Given the description of an element on the screen output the (x, y) to click on. 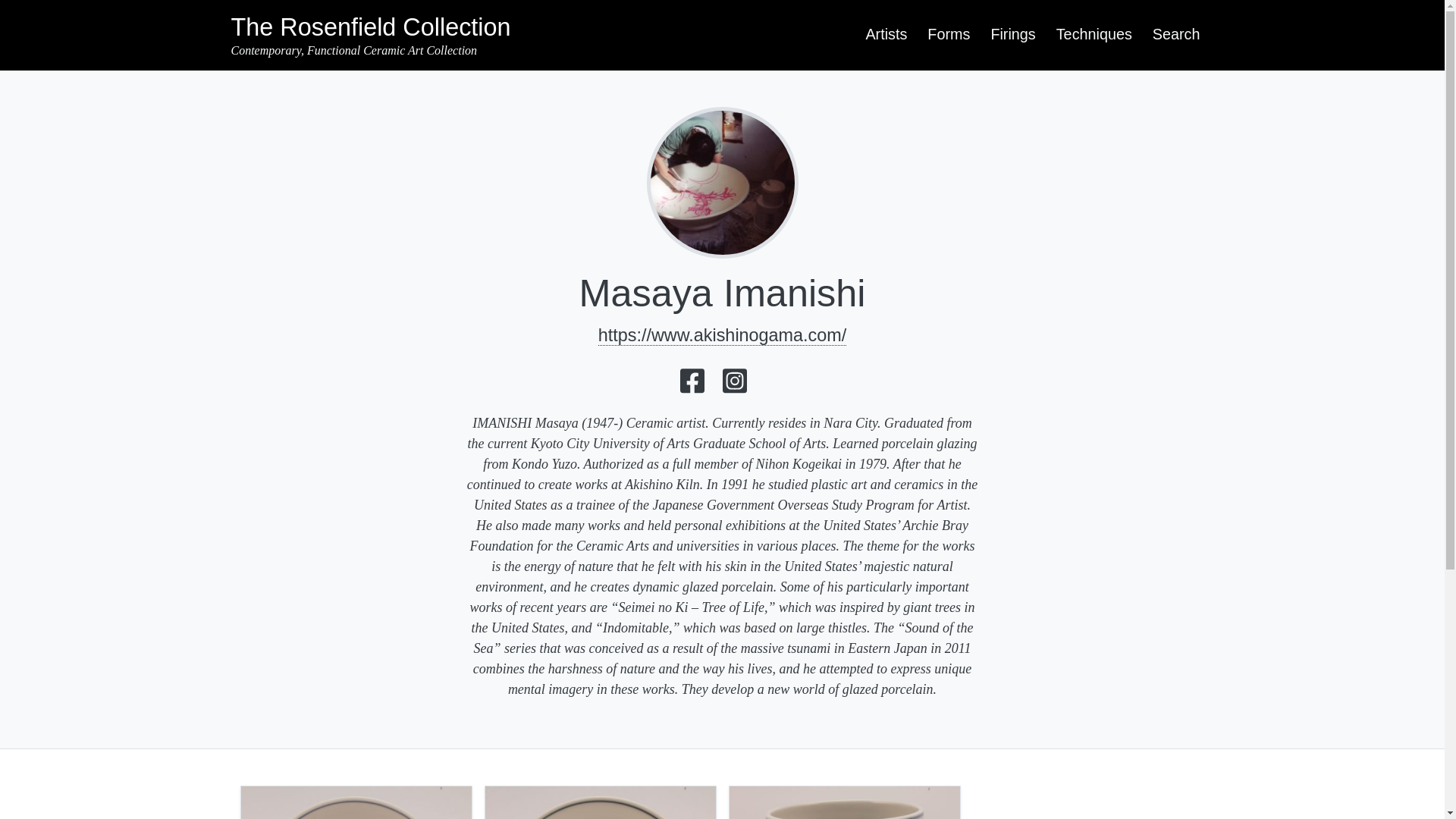
Search (1176, 34)
Forms (948, 34)
Techniques (1093, 34)
The Rosenfield Collection (370, 26)
Artists (886, 34)
Firings (1013, 34)
